Given the description of an element on the screen output the (x, y) to click on. 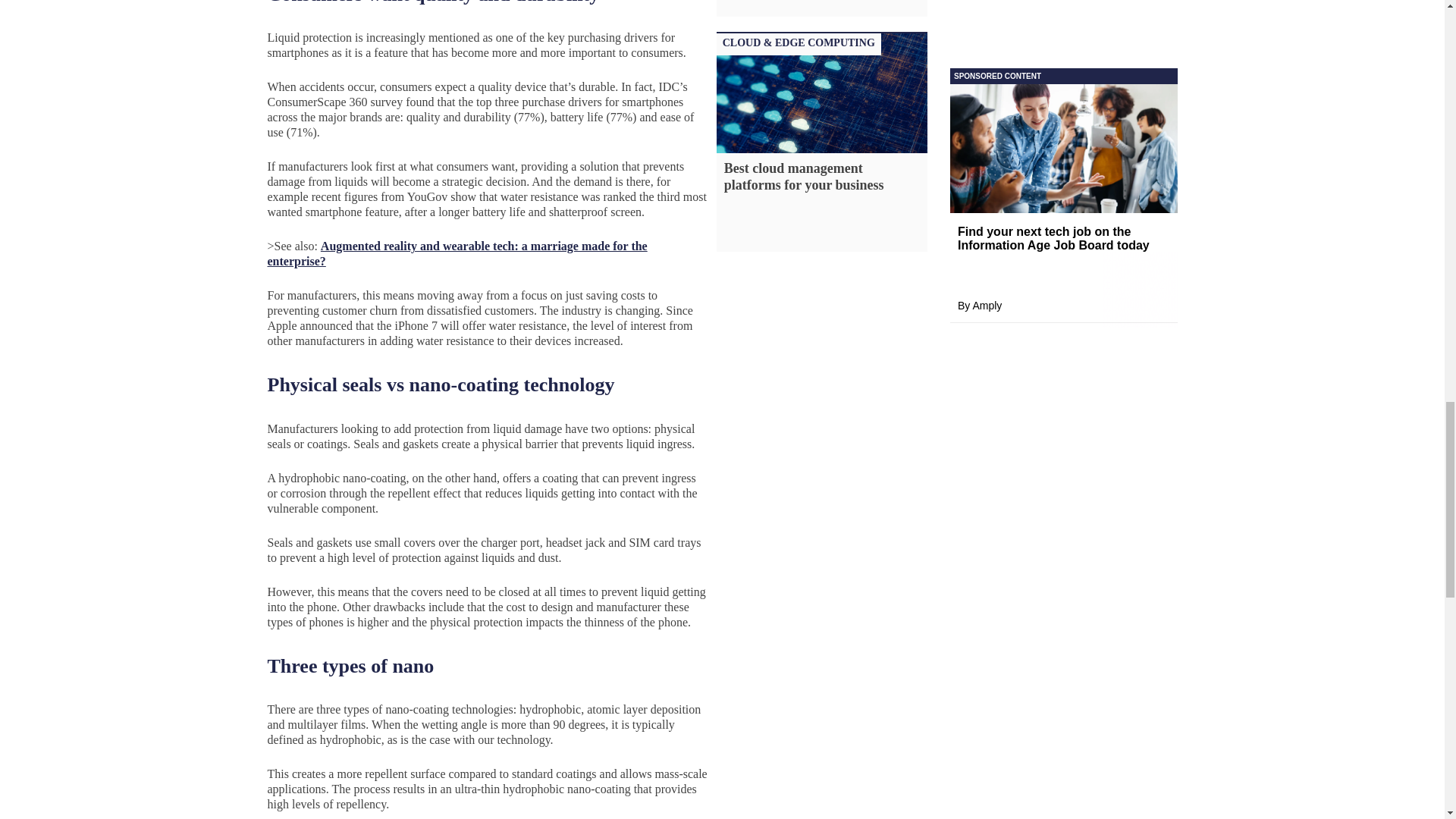
3rd party ad content (1062, 81)
